Given the description of an element on the screen output the (x, y) to click on. 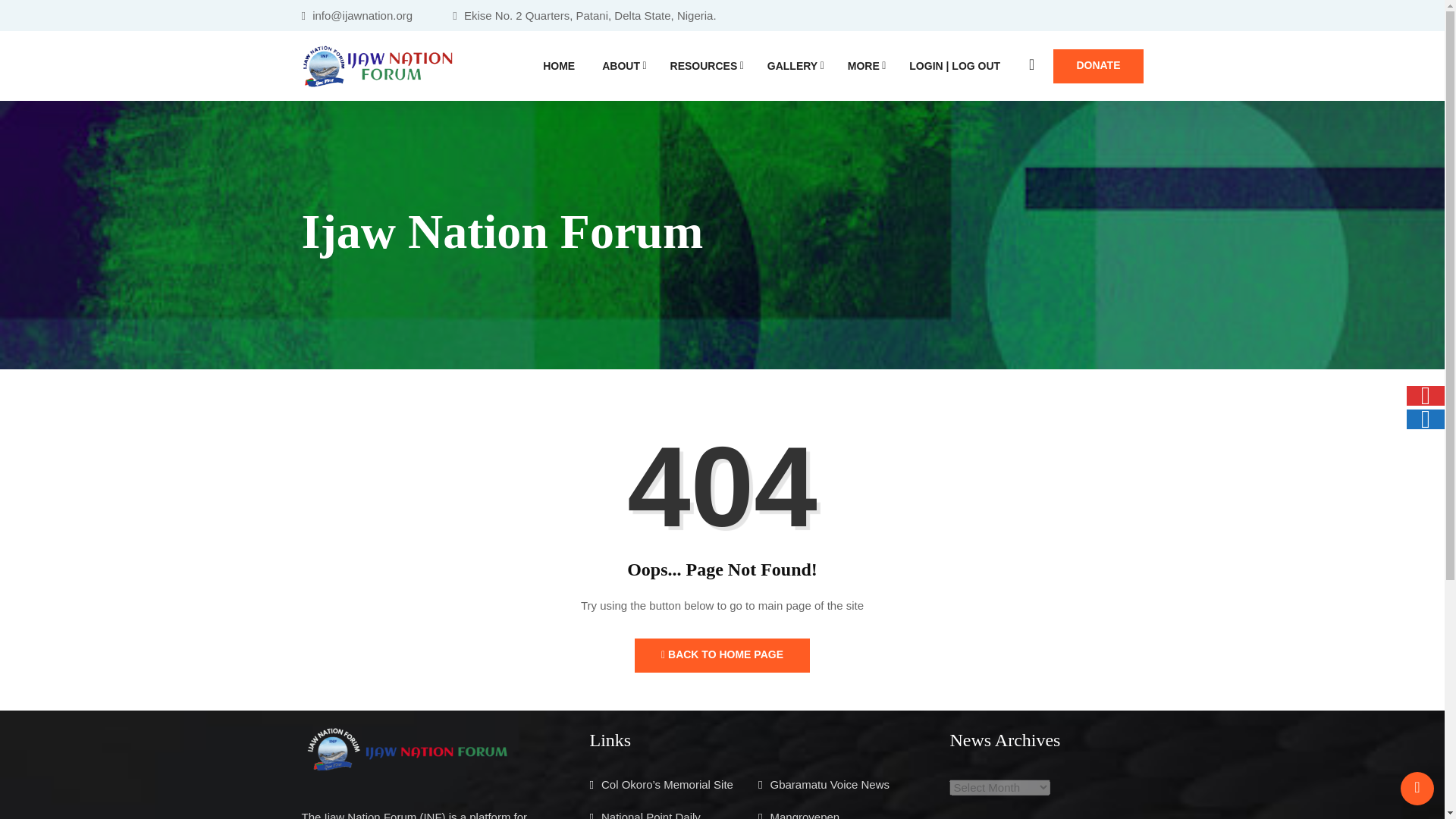
DONATE (1097, 65)
Gbaramatu Voice News (829, 784)
National Point Daily (650, 814)
GALLERY (794, 65)
BACK TO HOME PAGE (721, 655)
RESOURCES (704, 65)
Mangrovepen (805, 814)
